Given the description of an element on the screen output the (x, y) to click on. 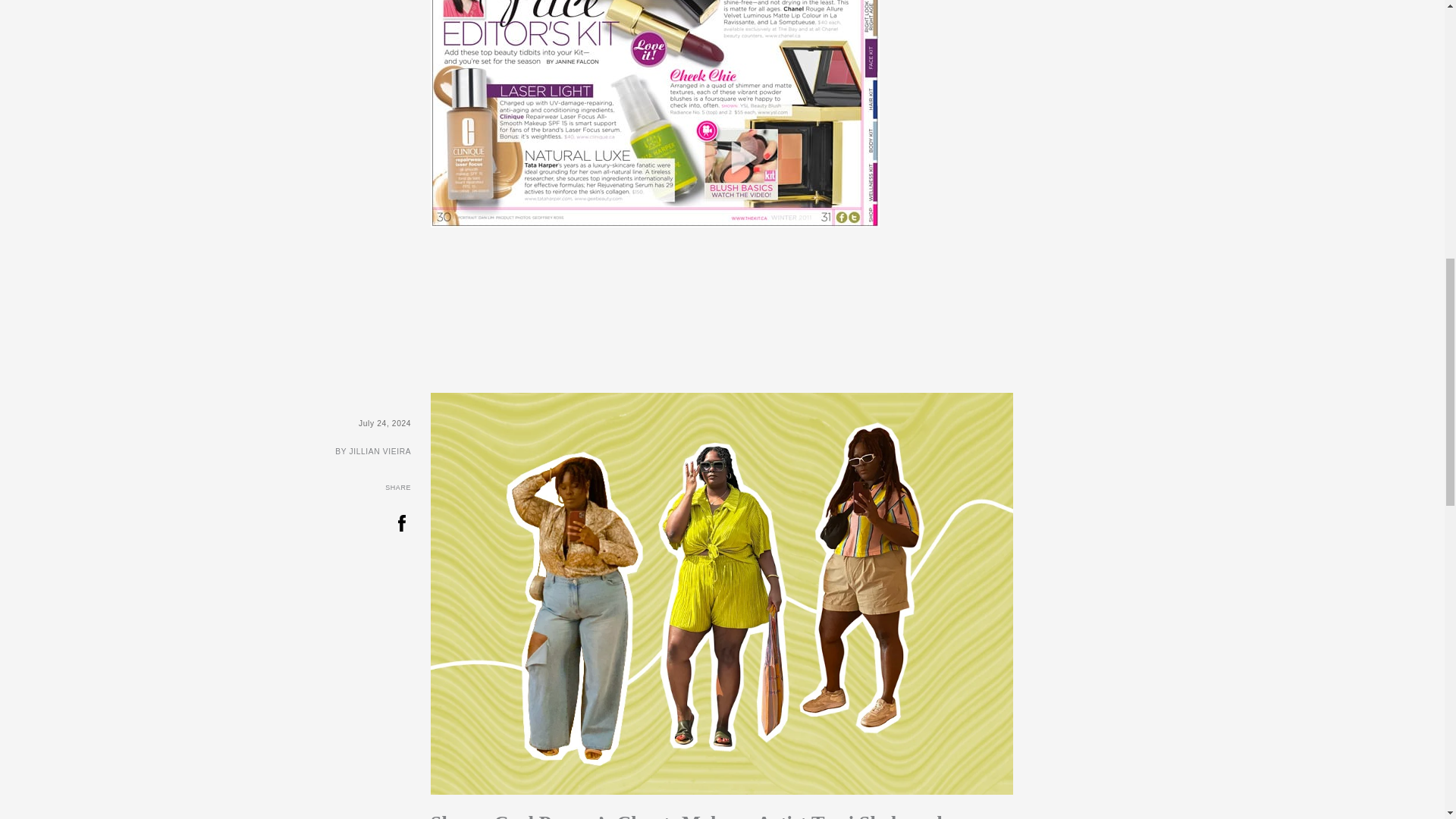
July 24, 2024 (212, 423)
The-Kit (654, 113)
